Given the description of an element on the screen output the (x, y) to click on. 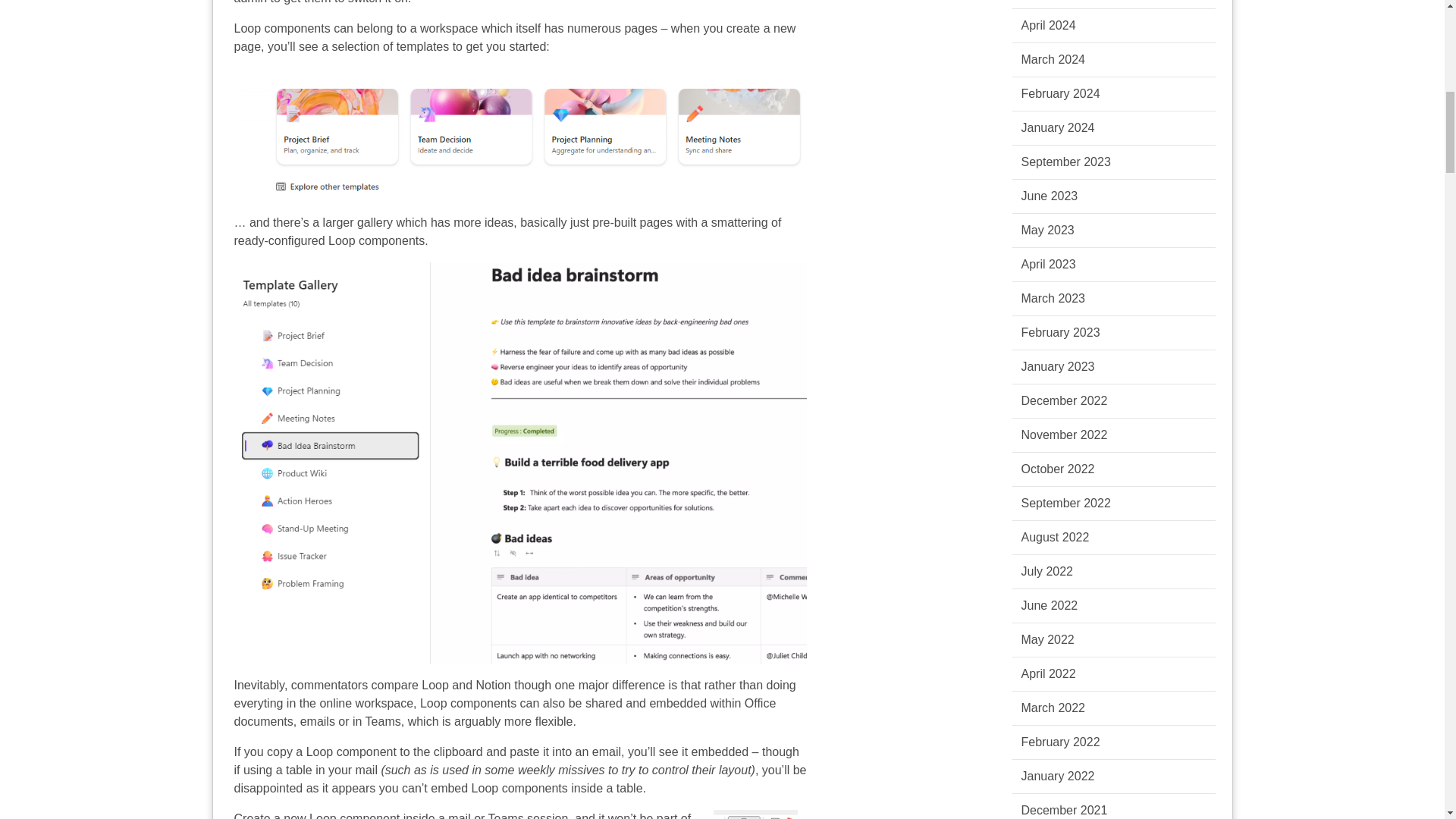
weekly missives (561, 769)
arguably more flexible (513, 721)
commentators compare Loop and Notion (401, 684)
emails (316, 721)
disappointed (267, 788)
